Given the description of an element on the screen output the (x, y) to click on. 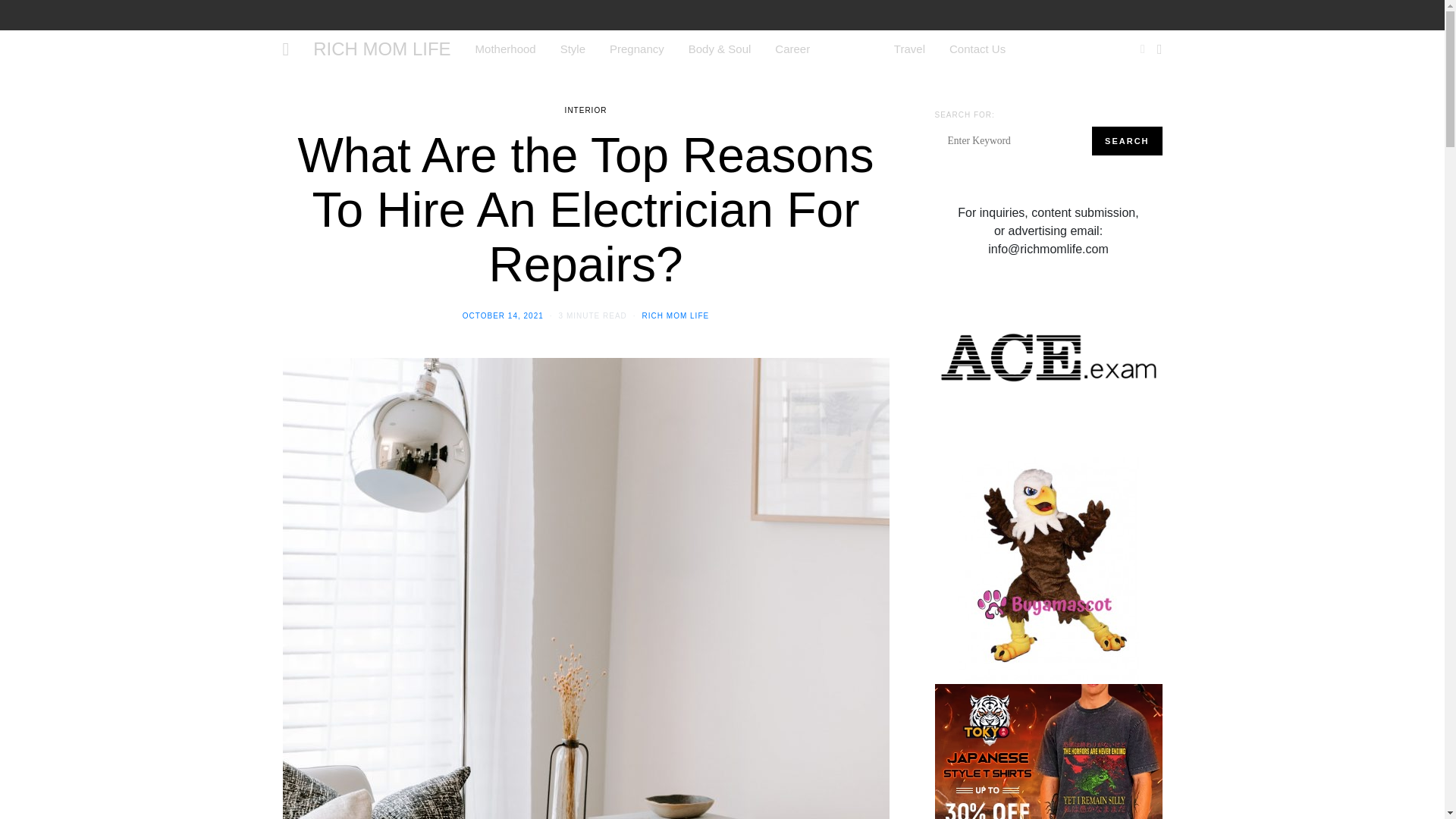
Pregnancy (636, 48)
Motherhood (505, 48)
Interior (851, 48)
View all posts by Rich Mom Life (676, 316)
Contact Us (977, 48)
RICH MOM LIFE (676, 316)
Career (791, 48)
Affordbable Mascot Costumes for Every Event - Buyamascot.com (1047, 568)
INTERIOR (585, 110)
RICH MOM LIFE (381, 48)
